Given the description of an element on the screen output the (x, y) to click on. 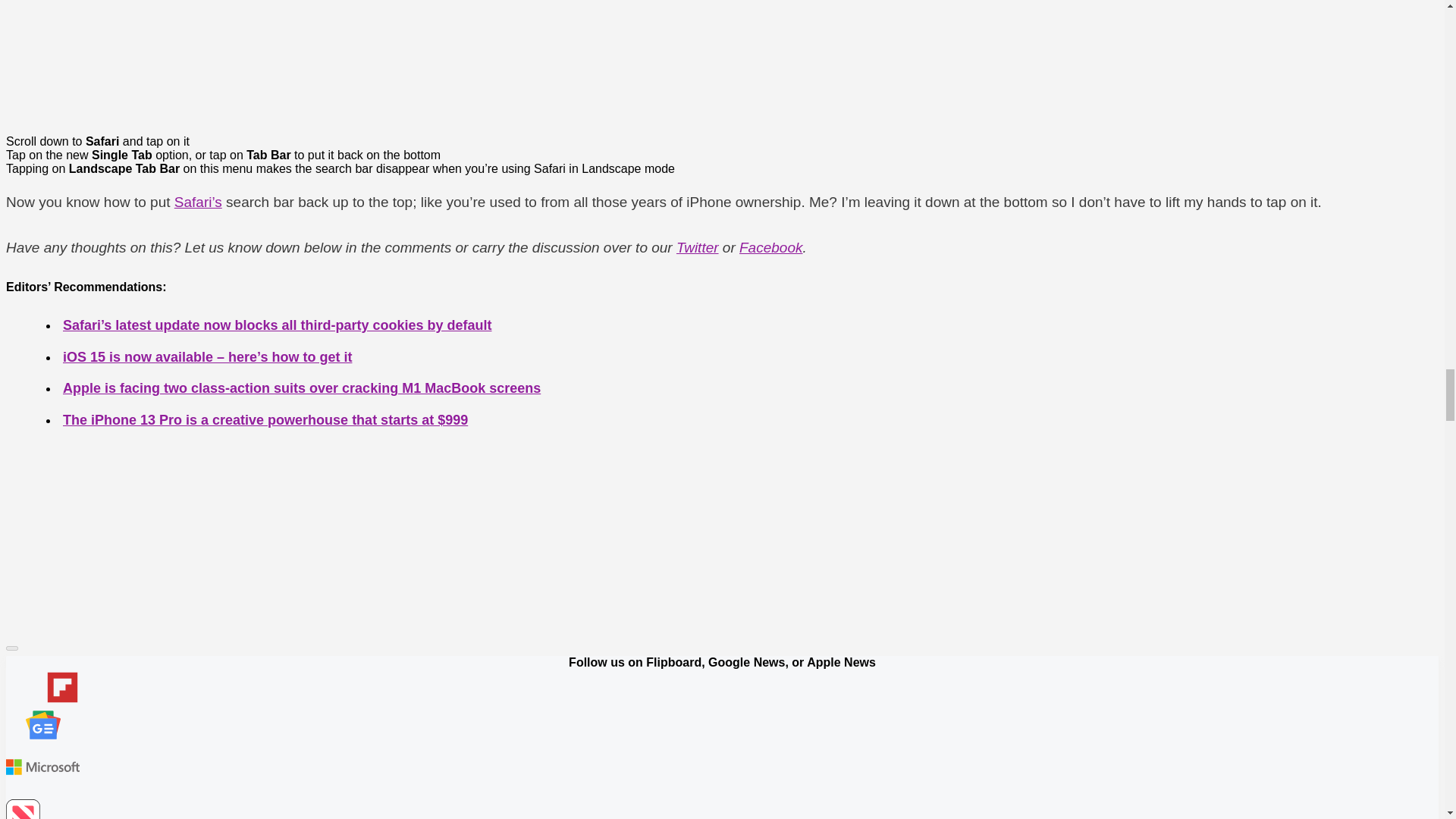
KnowTechie Google News (42, 726)
KnowTechie Flipboard (42, 688)
MSN KnowTechie (42, 768)
KnowTechie Apple News (42, 809)
